Given the description of an element on the screen output the (x, y) to click on. 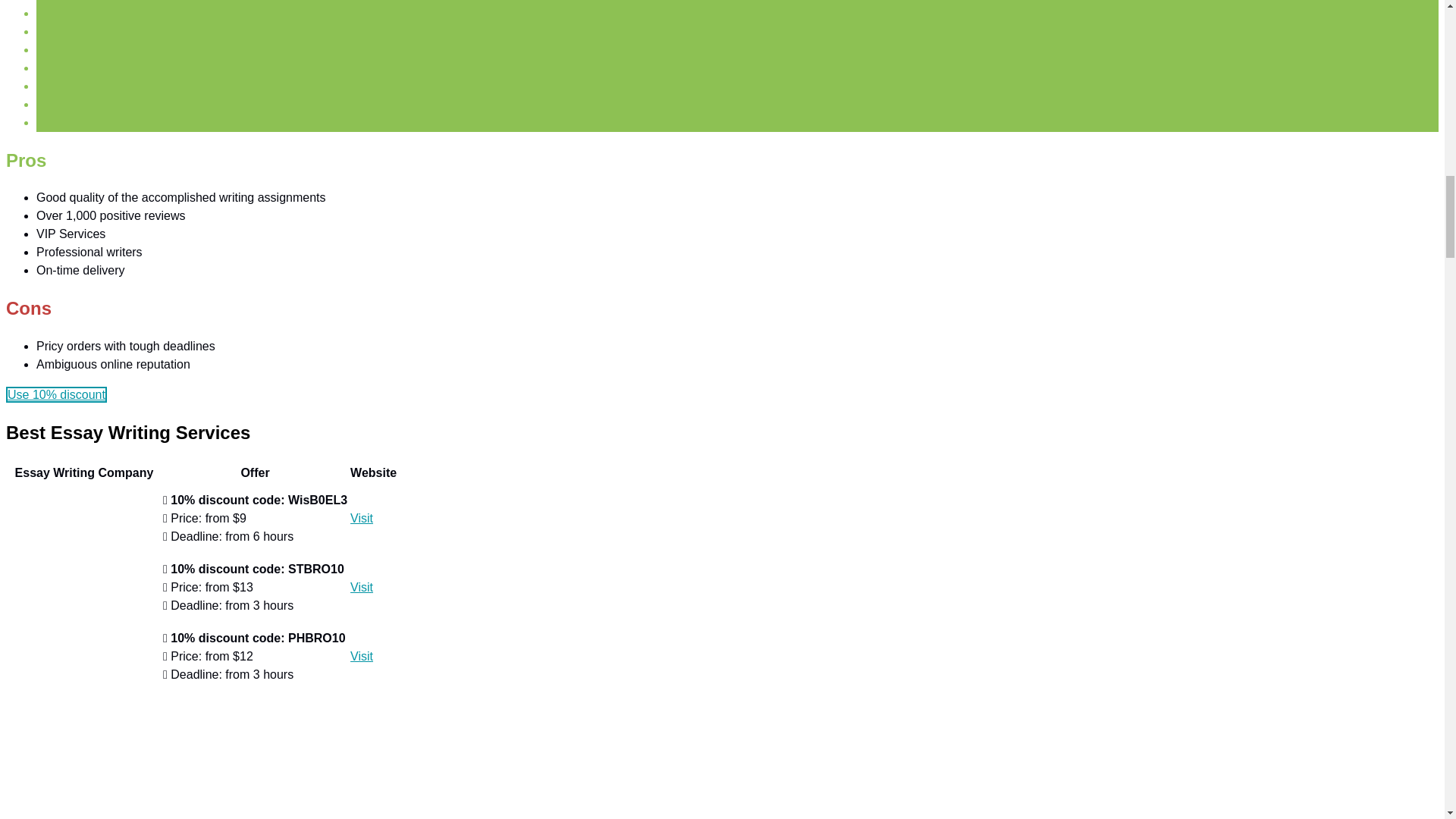
Visit (361, 517)
Visit (361, 656)
Visit (361, 586)
